Given the description of an element on the screen output the (x, y) to click on. 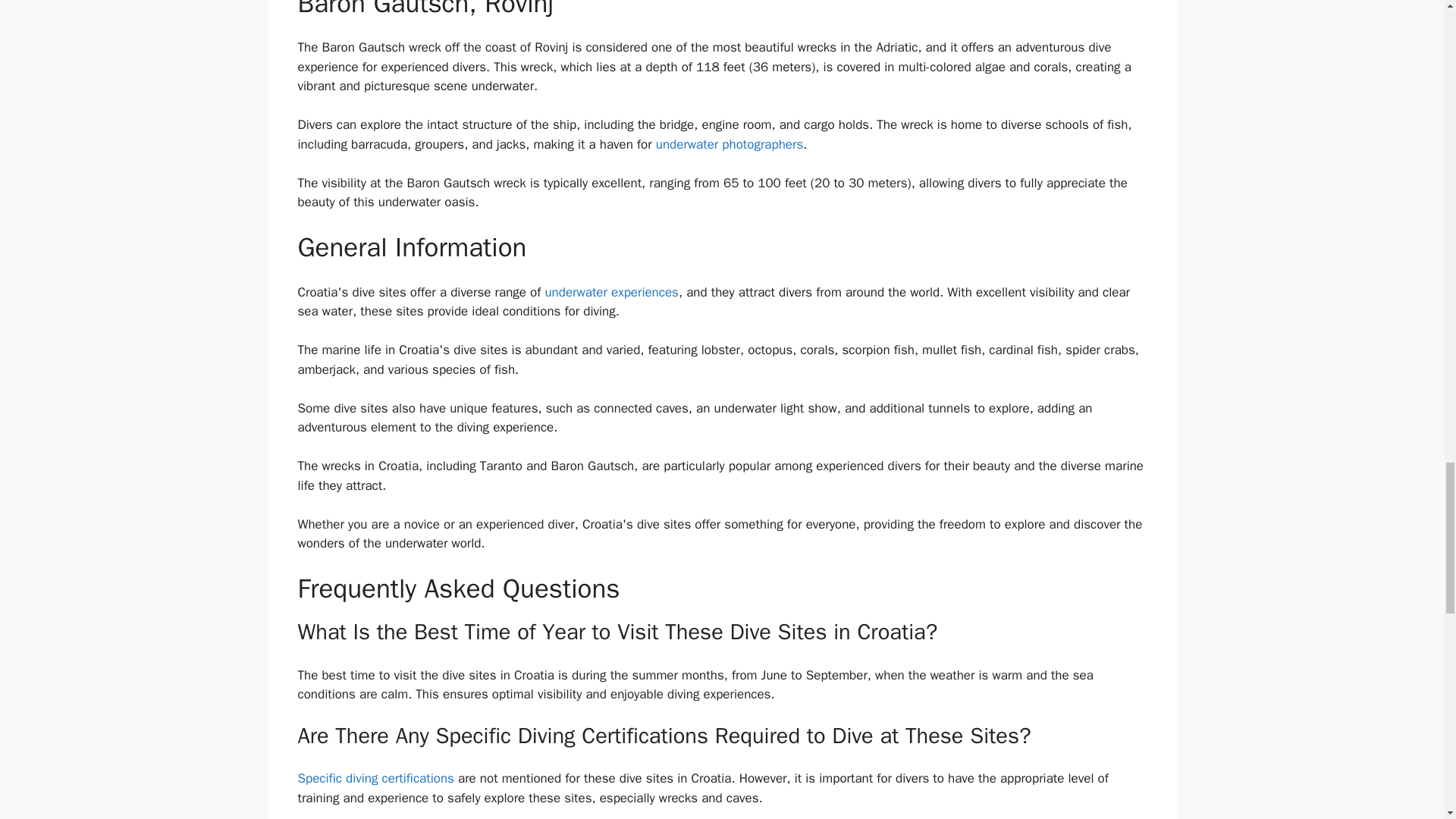
underwater photographers (729, 144)
underwater experiences (611, 292)
Specific diving certifications (374, 778)
